Given the description of an element on the screen output the (x, y) to click on. 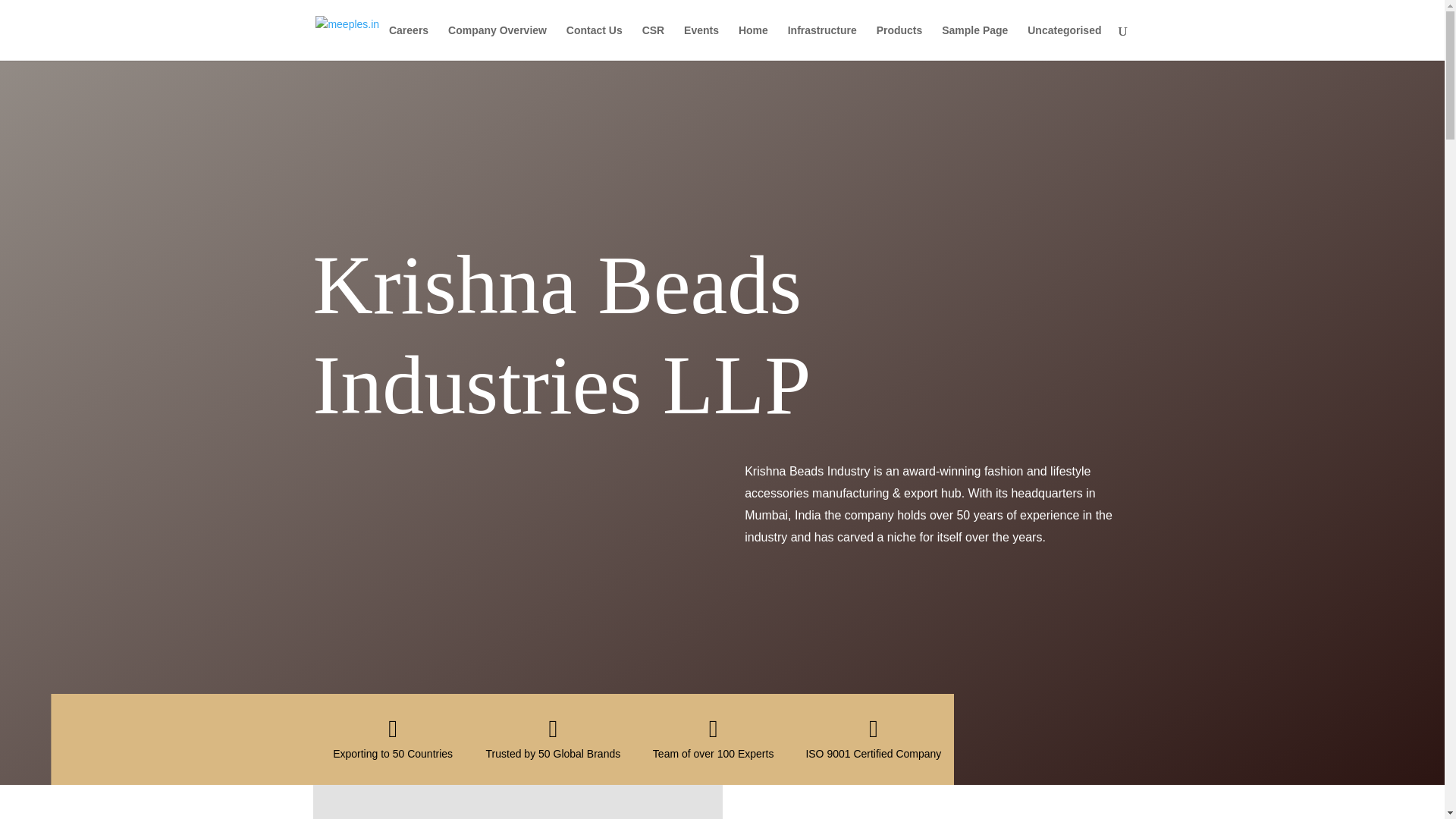
Sample Page (974, 42)
Products (899, 42)
Company Overview (497, 42)
Careers (408, 42)
Events (701, 42)
Infrastructure (822, 42)
Uncategorised (1063, 42)
Contact Us (594, 42)
